Given the description of an element on the screen output the (x, y) to click on. 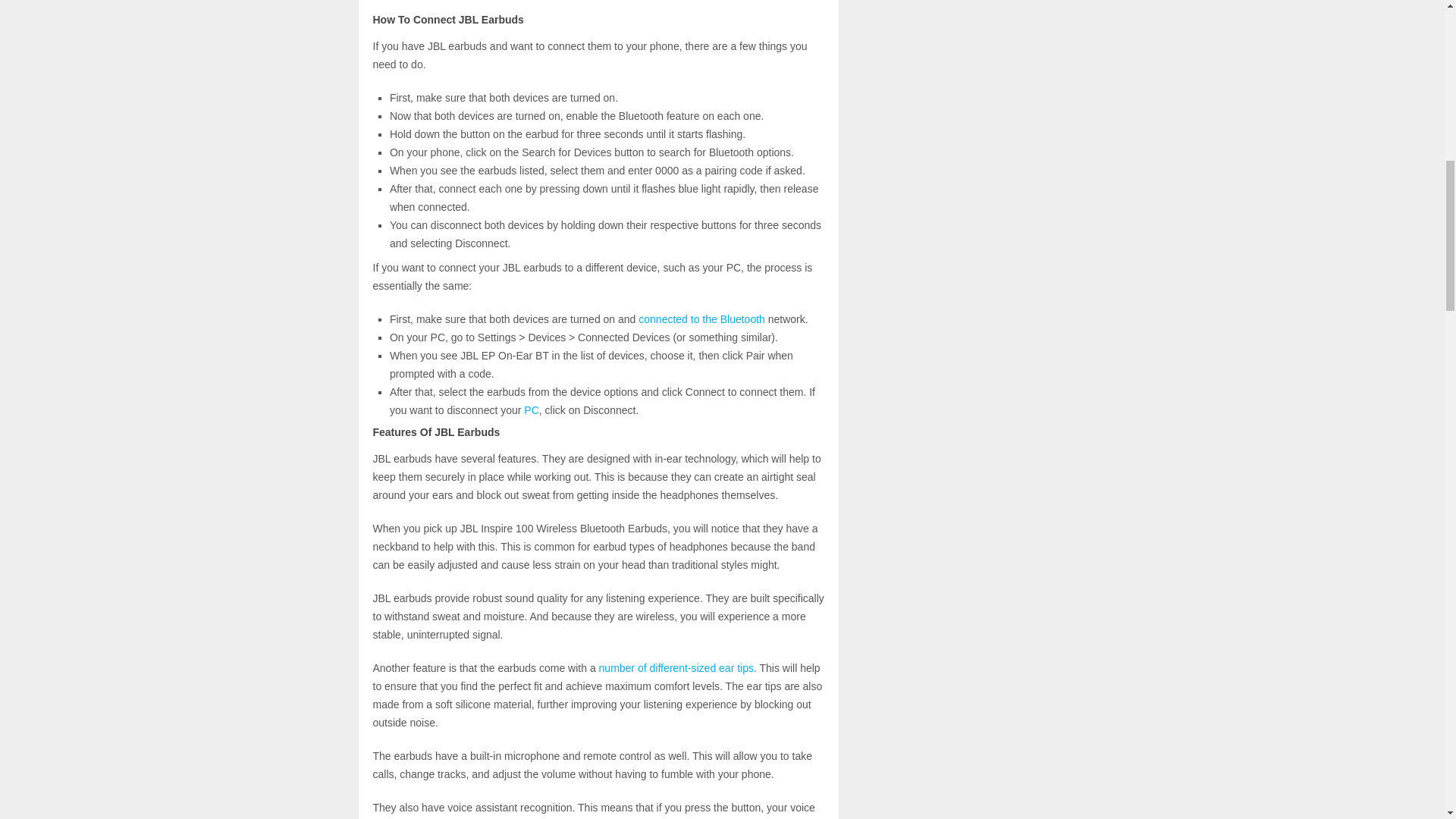
connected to the Bluetooth (702, 318)
number of different-sized ear tips (676, 667)
PC (531, 410)
